Given the description of an element on the screen output the (x, y) to click on. 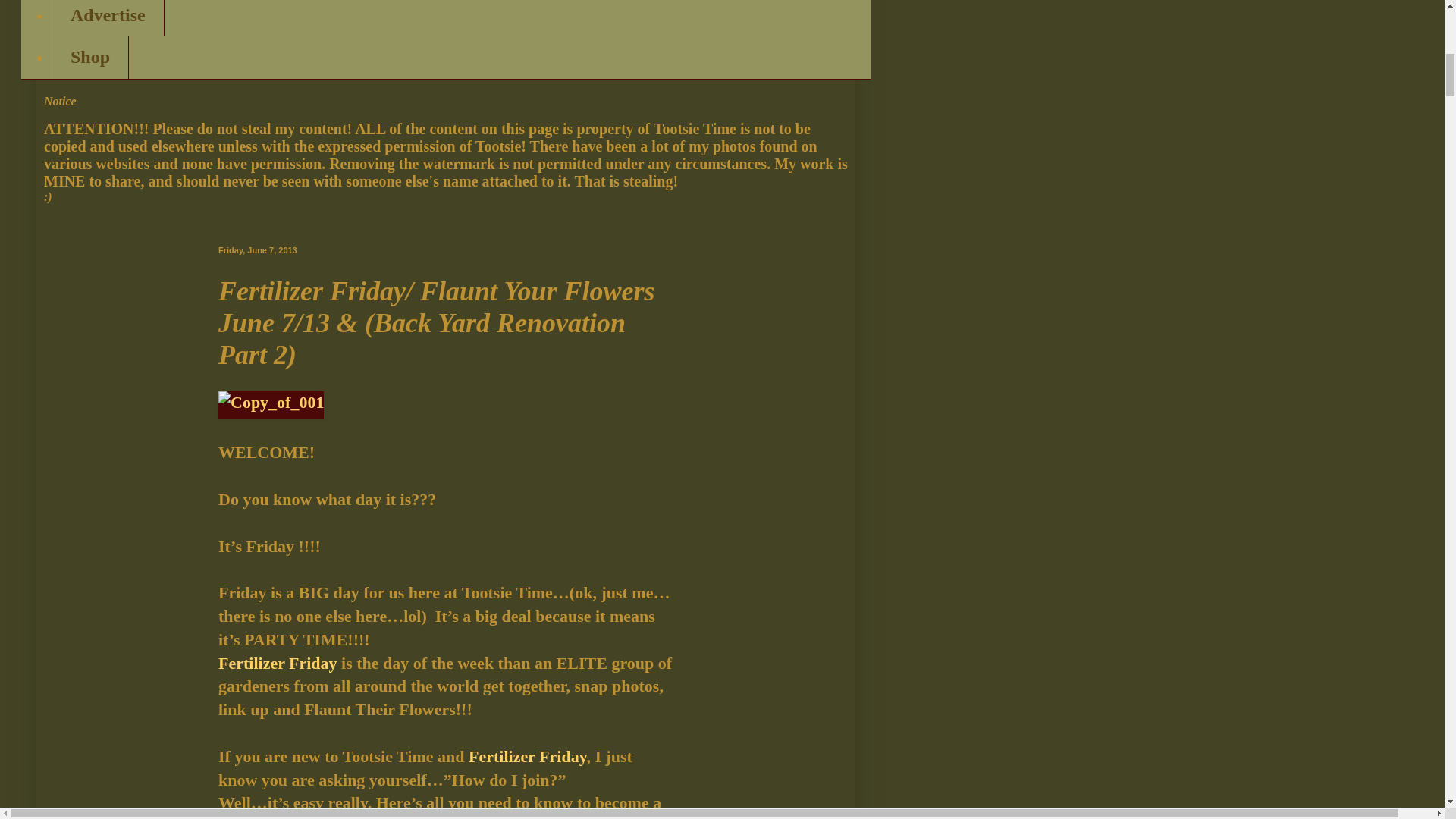
Shop (89, 57)
Advertise (107, 18)
Fertilizer Friday (277, 662)
Fertilizer Friday (527, 755)
